Given the description of an element on the screen output the (x, y) to click on. 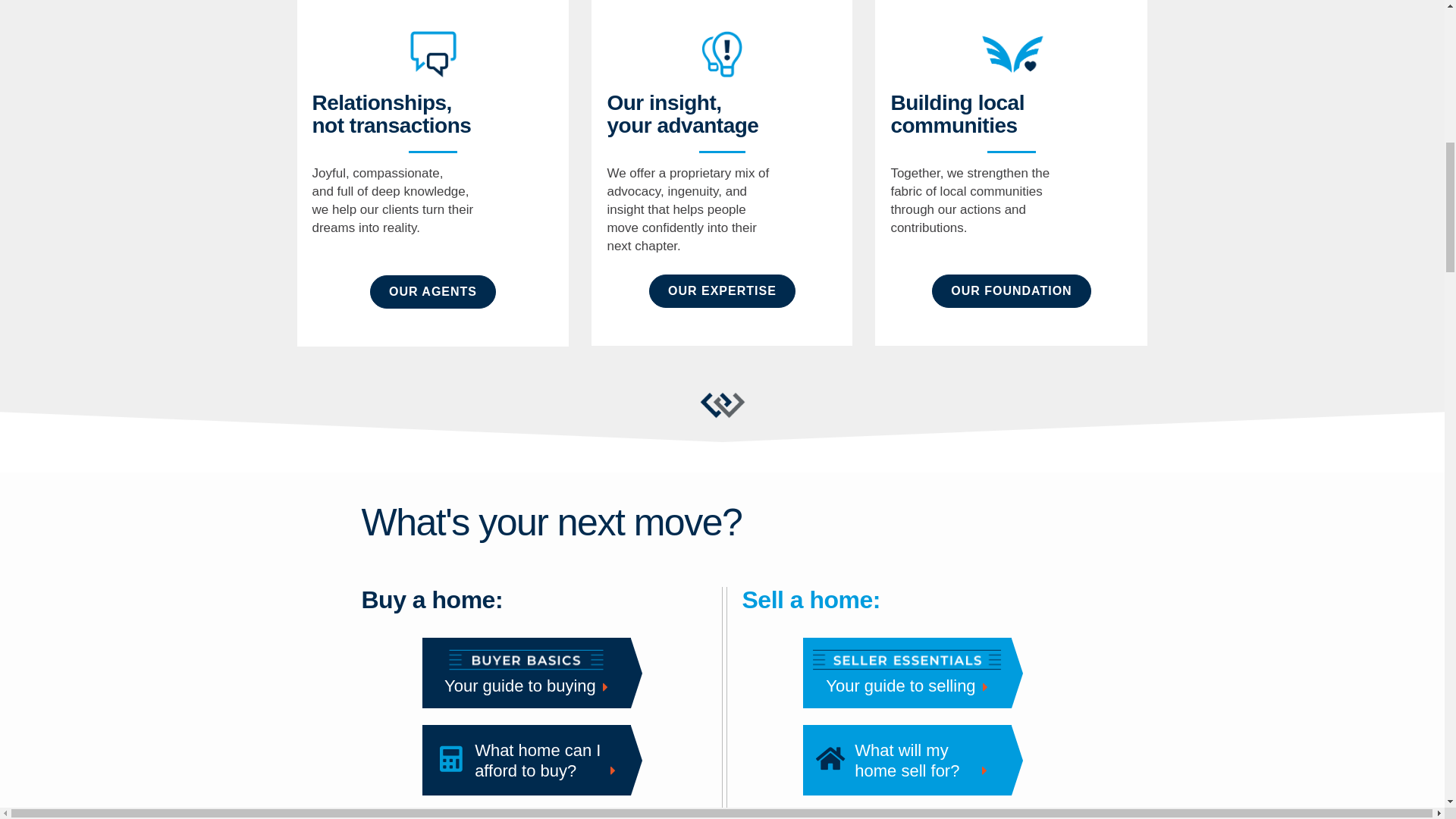
What home can I afford to buy? (529, 761)
windermere-icon (721, 405)
Your guide to selling (906, 671)
OUR FOUNDATION (1010, 290)
w-home-icon-community (1010, 54)
Your guide to buying (526, 671)
w-home-icon-insight (721, 54)
OUR EXPERTISE (906, 761)
OUR AGENTS (721, 290)
w-home-icon-relationships (432, 291)
